Given the description of an element on the screen output the (x, y) to click on. 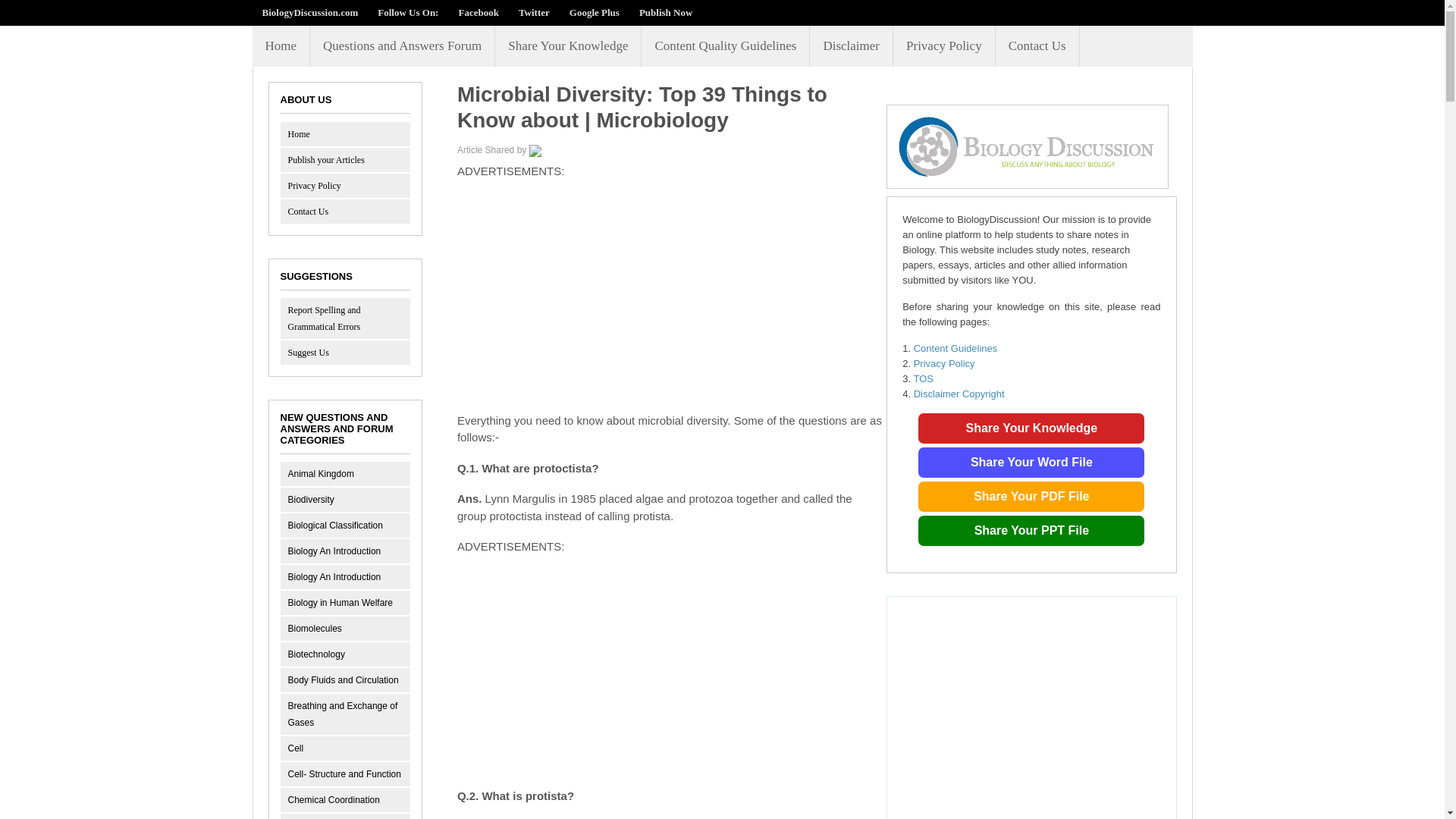
Twitter (533, 12)
Follow Us On: (408, 12)
Share Your Knowledge (1031, 496)
Content Quality Guidelines (725, 45)
Facebook (478, 12)
Share Your Knowledge (1031, 462)
BiologyDiscussion.com (309, 12)
Share Your PPT File (1031, 530)
Share Your Knowledge (1031, 530)
Questions and Answers Forum (402, 45)
